Given the description of an element on the screen output the (x, y) to click on. 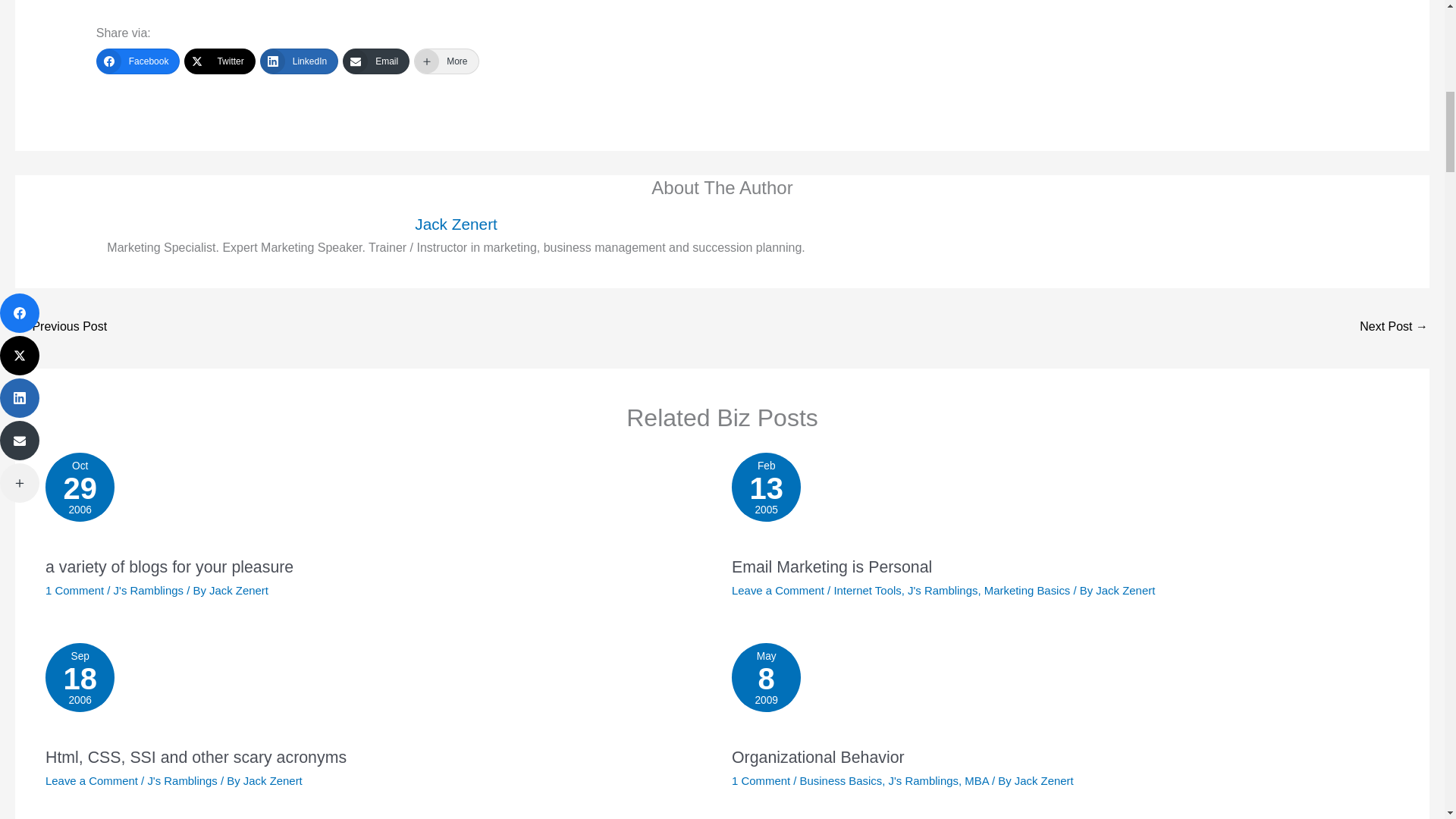
Facebook (138, 61)
Leave a Comment (91, 780)
Scared... Life and Business (61, 327)
Jack Zenert (1125, 590)
Marketing Basics (1065, 689)
Internet Tools (1027, 590)
Html, CSS, SSI and other scary acronyms (866, 590)
Jack Zenert (195, 757)
LinkedIn (455, 223)
View all posts by Jack Zenert (298, 61)
Jack Zenert (272, 780)
J's Ramblings (272, 780)
View all posts by Jack Zenert (941, 590)
Email Marketing is Personal (1044, 780)
